Given the description of an element on the screen output the (x, y) to click on. 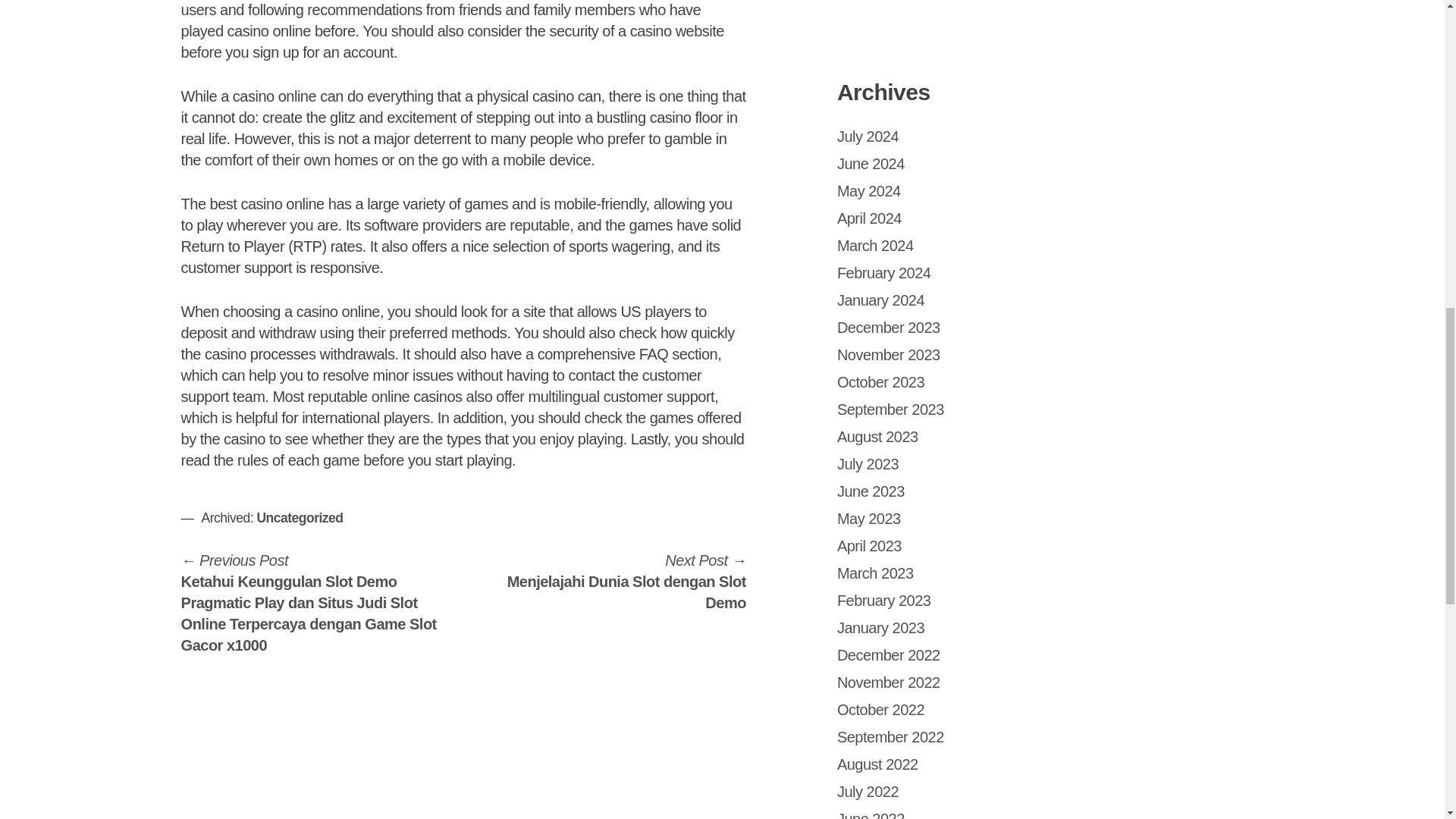
January 2024 (880, 299)
April 2024 (869, 217)
January 2023 (880, 627)
November 2023 (888, 354)
April 2023 (869, 545)
February 2023 (884, 600)
December 2023 (888, 327)
March 2024 (875, 245)
June 2023 (870, 491)
August 2023 (877, 436)
September 2023 (890, 409)
May 2024 (869, 190)
July 2024 (867, 135)
